Given the description of an element on the screen output the (x, y) to click on. 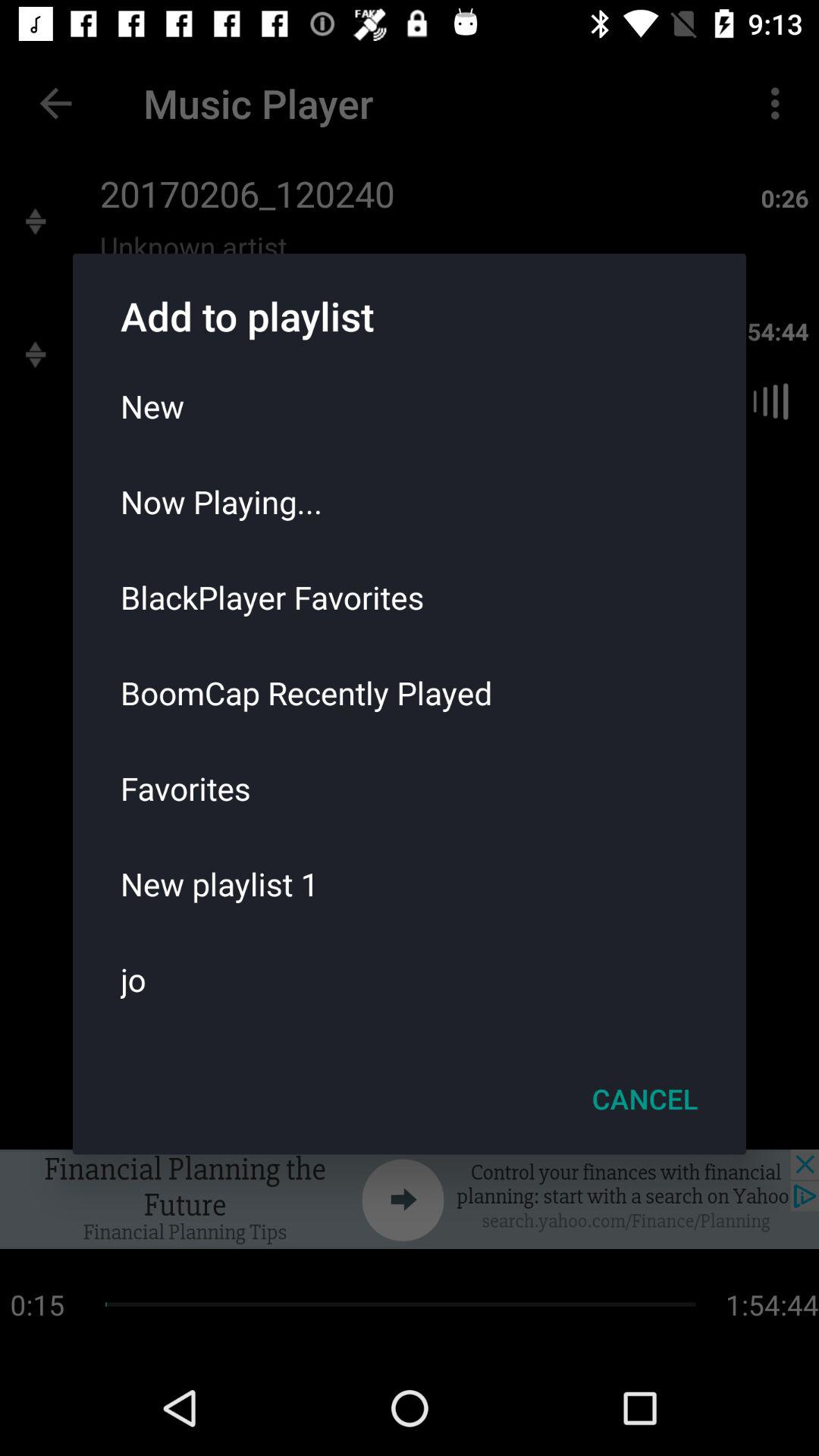
tap the icon below blackplayer favorites item (409, 692)
